Given the description of an element on the screen output the (x, y) to click on. 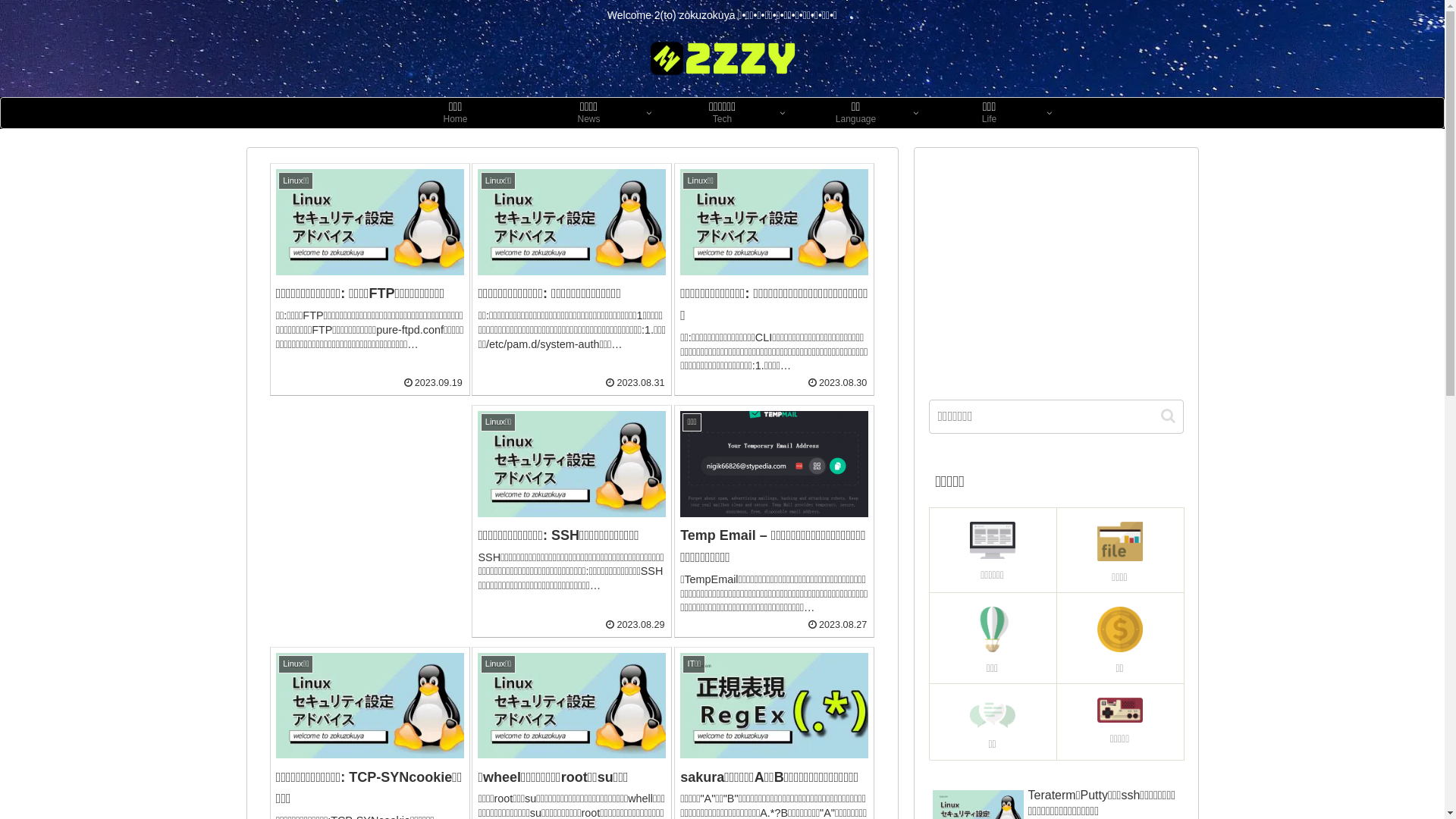
Advertisement Element type: hover (369, 499)
Advertisement Element type: hover (1055, 268)
